Given the description of an element on the screen output the (x, y) to click on. 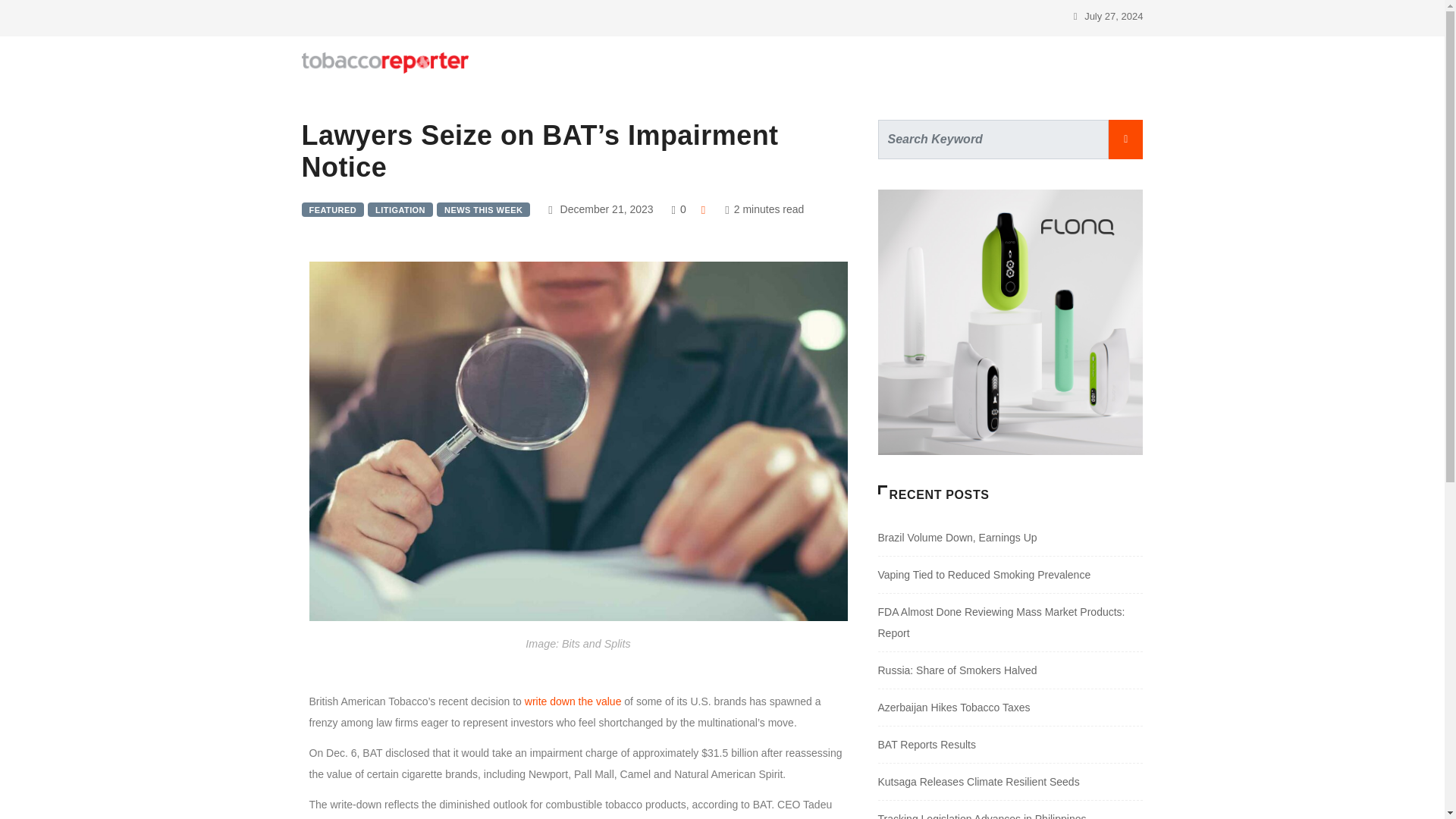
EVENTS (702, 62)
MAGAZINE (613, 62)
popup modal for search (1117, 62)
ADVERTISE (516, 62)
